Given the description of an element on the screen output the (x, y) to click on. 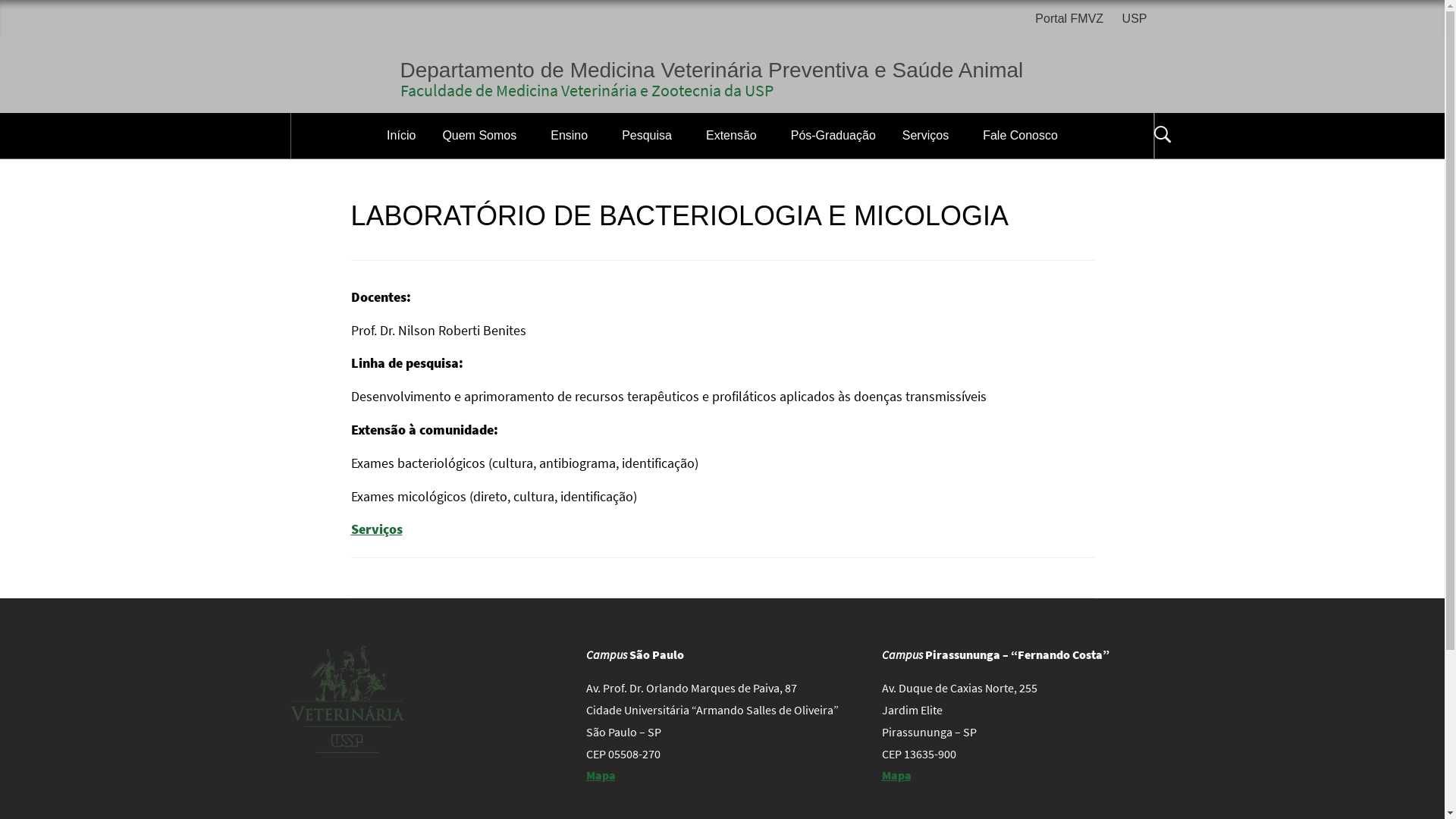
Fale Conosco Element type: text (1020, 135)
Pesquisa Element type: text (650, 135)
Ensino Element type: text (572, 135)
USP Element type: text (1134, 19)
Pesquisar Element type: text (797, 33)
Mapa Element type: text (600, 774)
Quem Somos Element type: text (482, 135)
Mapa Element type: text (895, 774)
Portal FMVZ Element type: text (1072, 19)
